Given the description of an element on the screen output the (x, y) to click on. 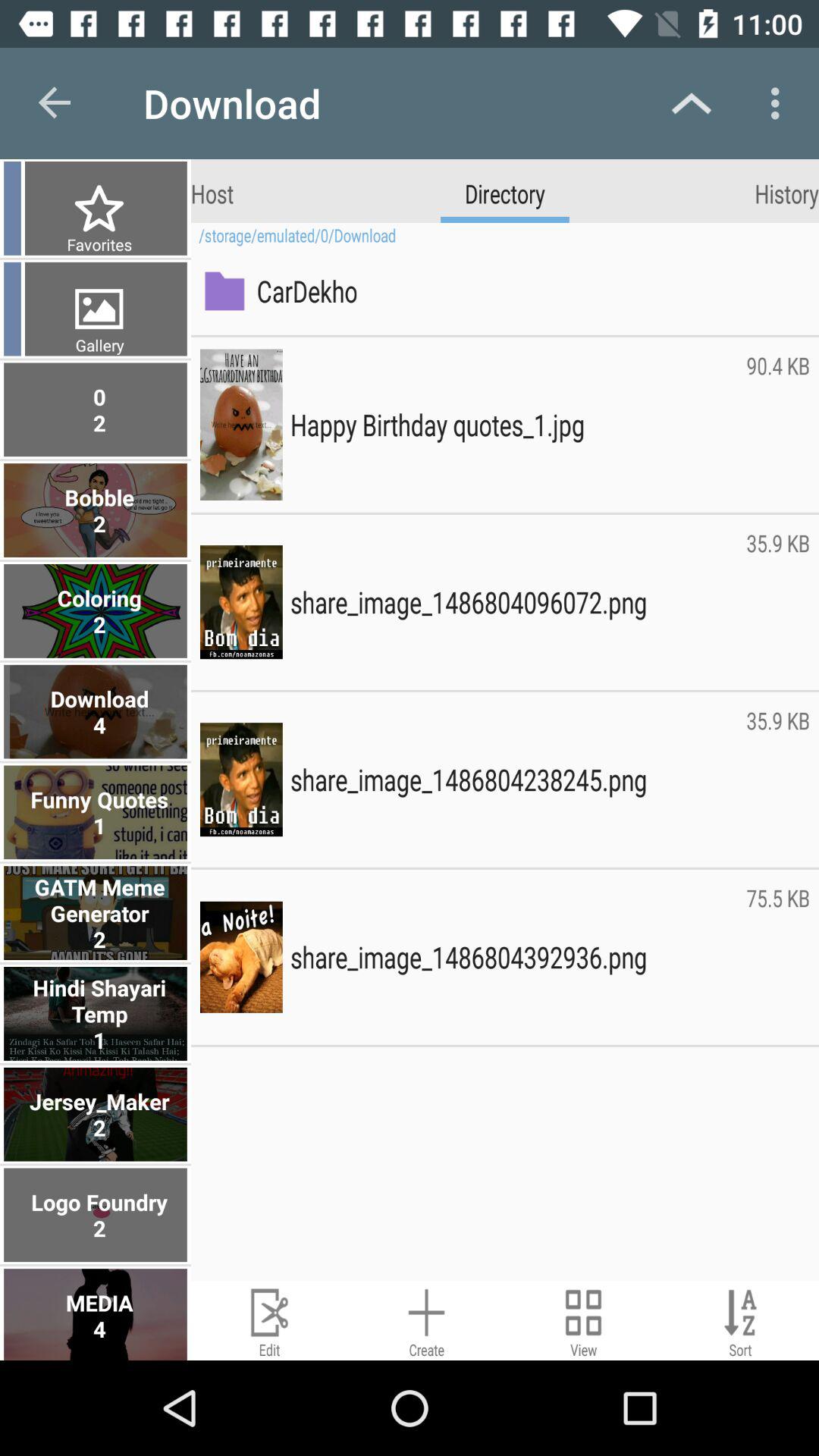
scroll to gallery item (97, 345)
